Given the description of an element on the screen output the (x, y) to click on. 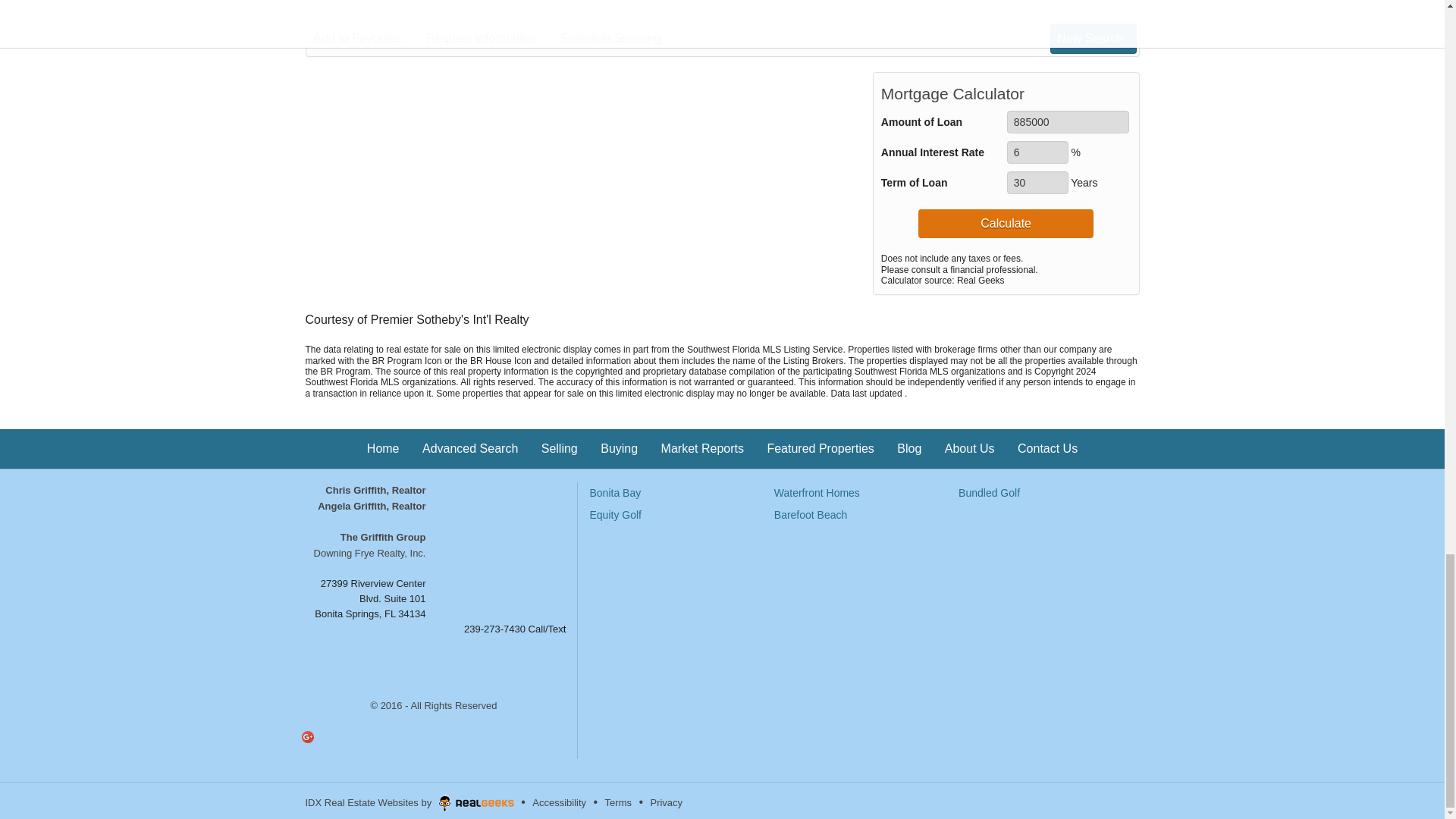
30 (1037, 182)
885000 (1068, 121)
6 (1037, 151)
